Given the description of an element on the screen output the (x, y) to click on. 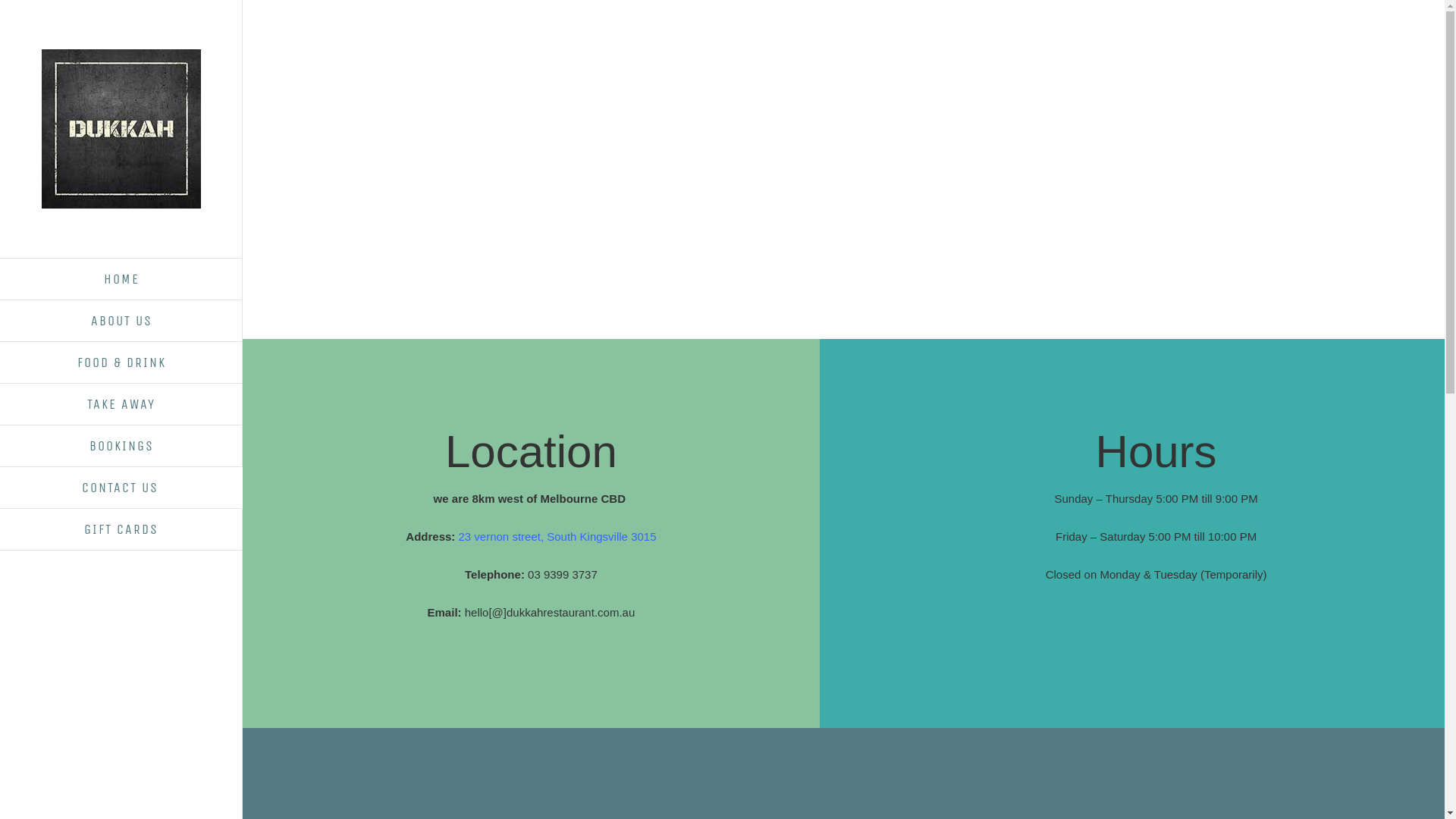
CONTACT US Element type: text (121, 487)
23 vernon street, South Kingsville 3015 Element type: text (556, 536)
HOME Element type: text (121, 278)
03 9399 3737 Element type: text (562, 573)
TAKE AWAY Element type: text (121, 404)
Facebook Element type: text (47, 587)
GIFT CARDS Element type: text (121, 529)
Instagram Element type: text (75, 587)
ABOUT US Element type: text (121, 321)
FOOD & DRINK Element type: text (121, 362)
BOOKINGS Element type: text (121, 446)
